Given the description of an element on the screen output the (x, y) to click on. 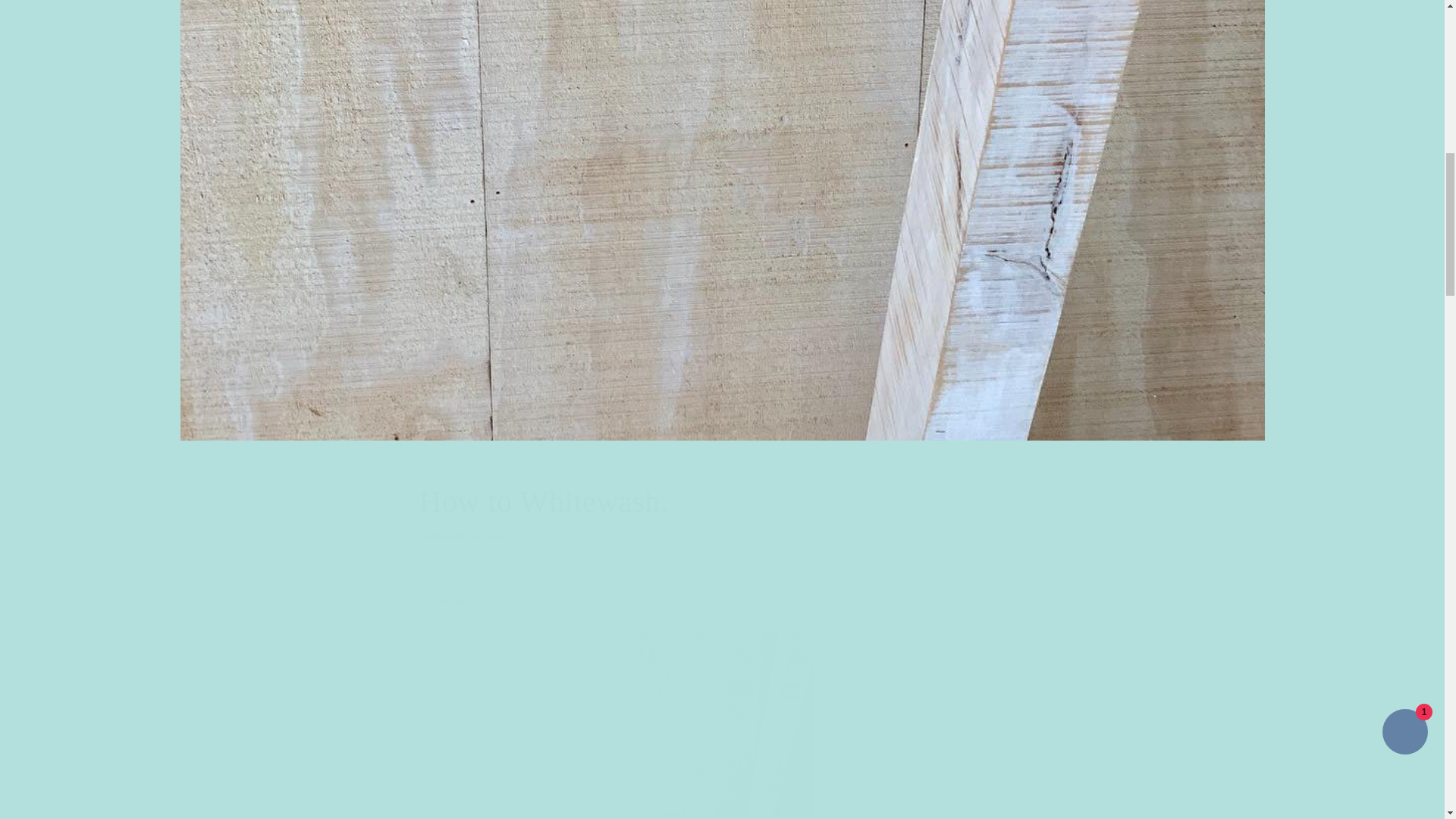
Share (722, 511)
